Given the description of an element on the screen output the (x, y) to click on. 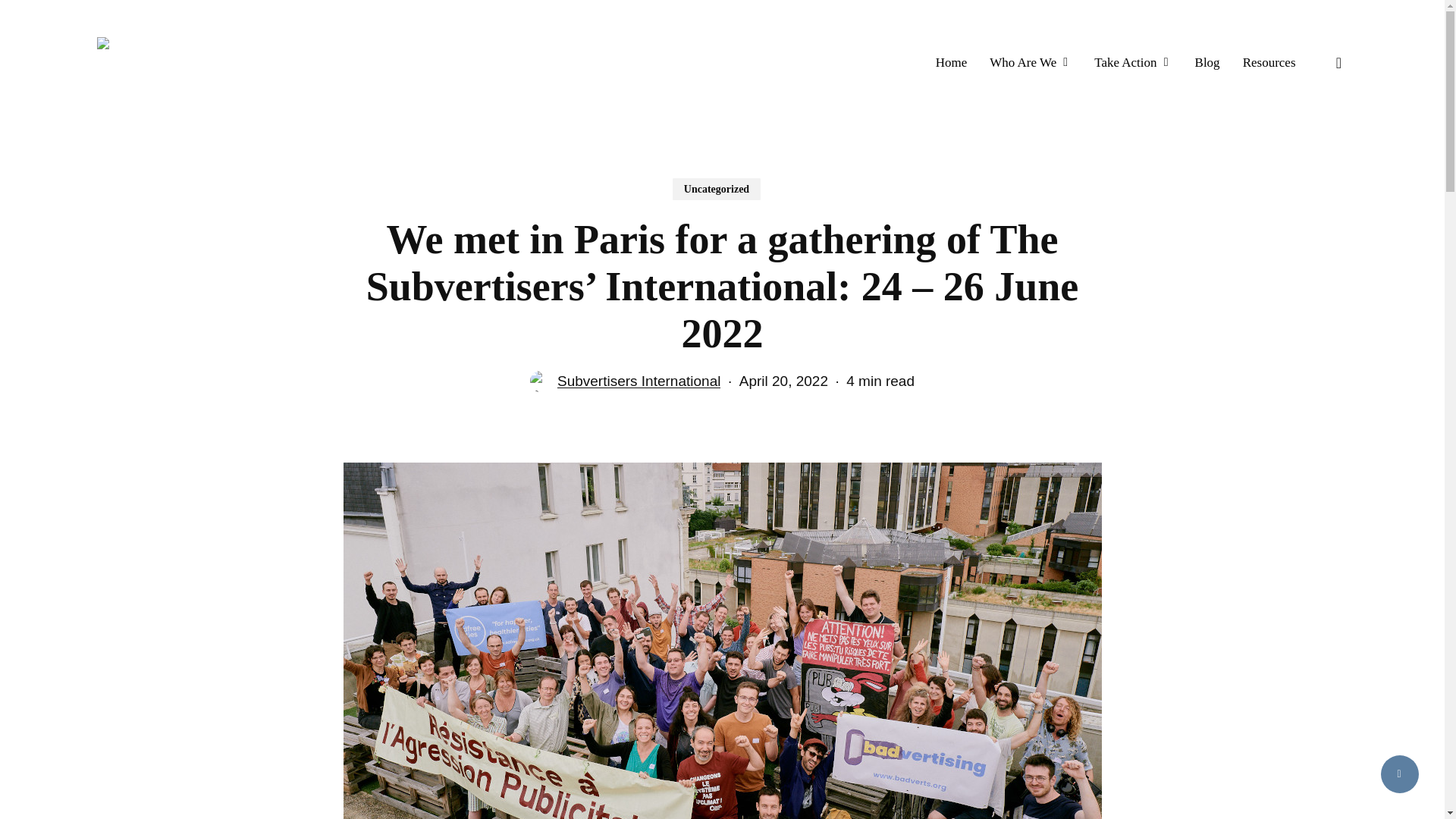
Blog (1207, 63)
search (1339, 62)
Posts by Subvertisers International (638, 381)
Resources (1269, 63)
Who Are We (1030, 63)
Uncategorized (716, 188)
Home (952, 63)
Subvertisers International (638, 381)
Take Action (1133, 63)
